Given the description of an element on the screen output the (x, y) to click on. 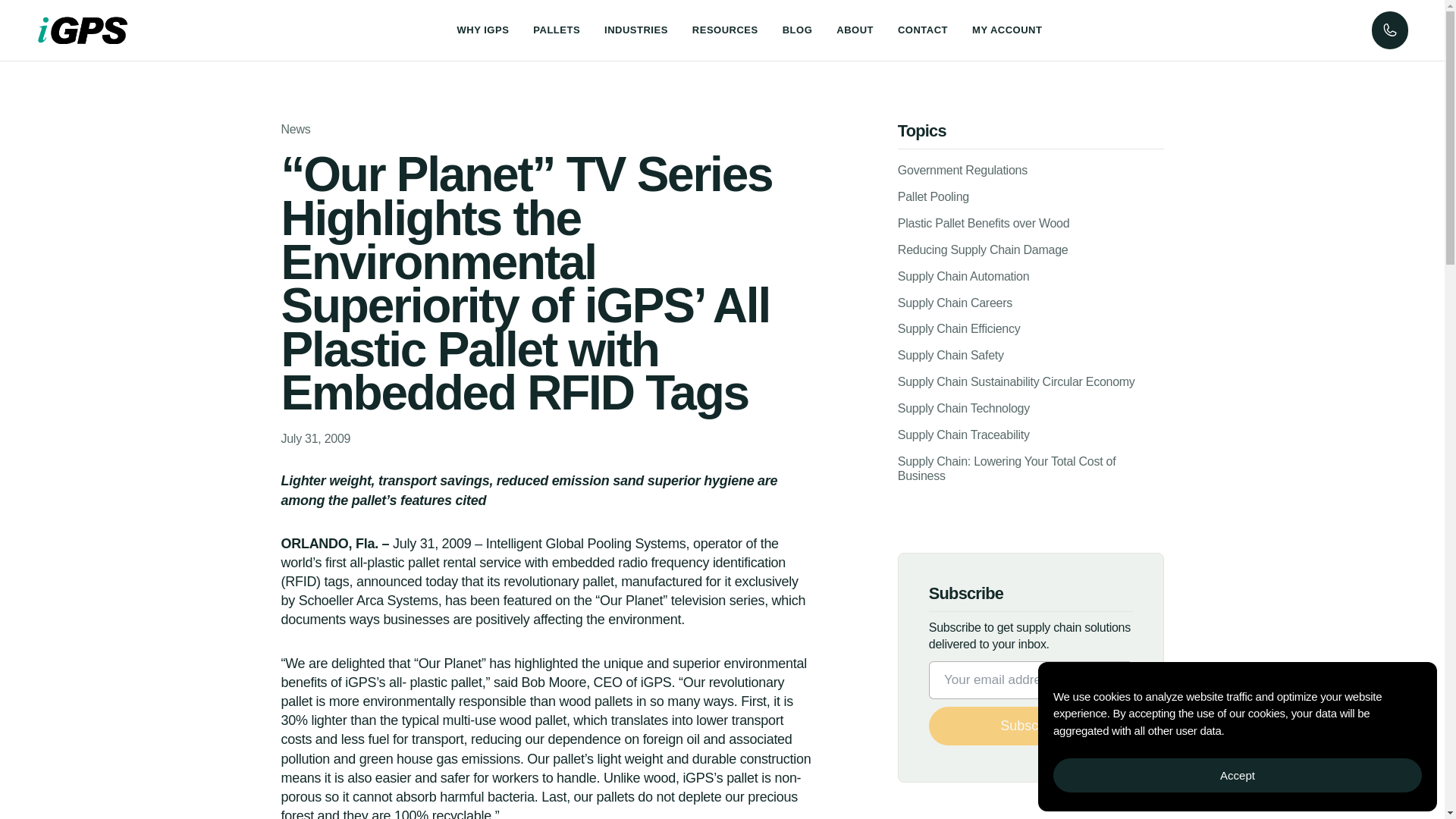
WHY IGPS (483, 29)
PALLETS (555, 29)
Accept (1237, 775)
INDUSTRIES (636, 29)
